Given the description of an element on the screen output the (x, y) to click on. 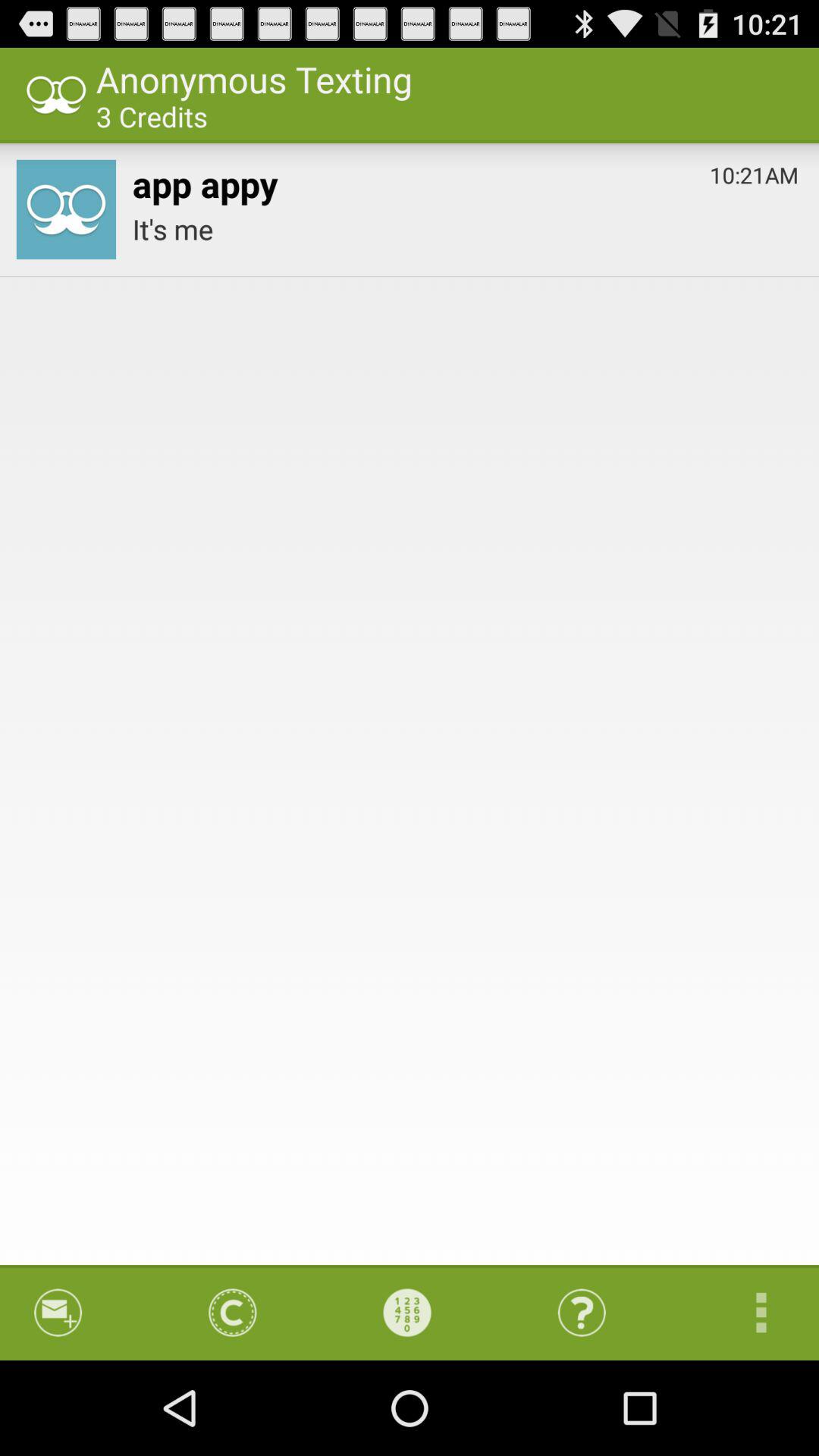
turn on the app at the top (465, 228)
